Given the description of an element on the screen output the (x, y) to click on. 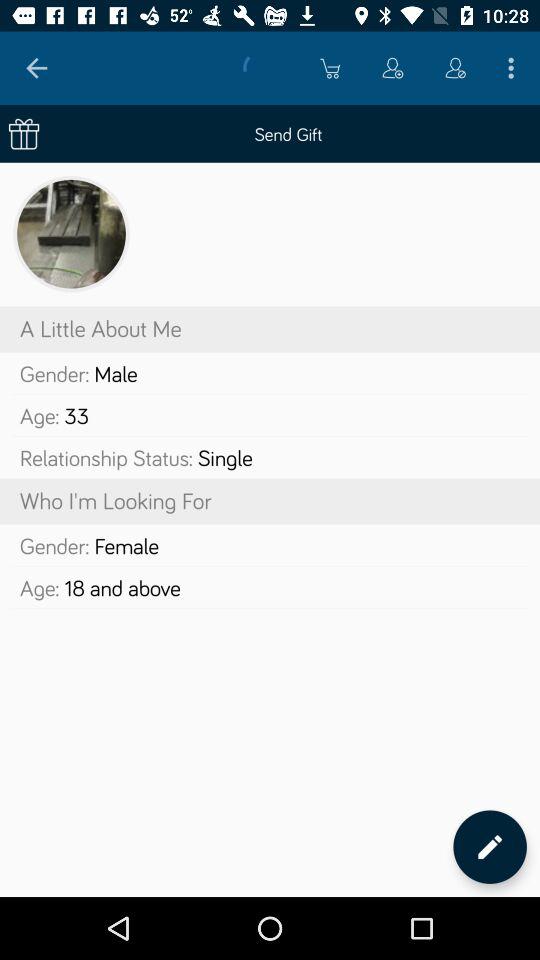
choose the item above the send gift item (36, 68)
